Given the description of an element on the screen output the (x, y) to click on. 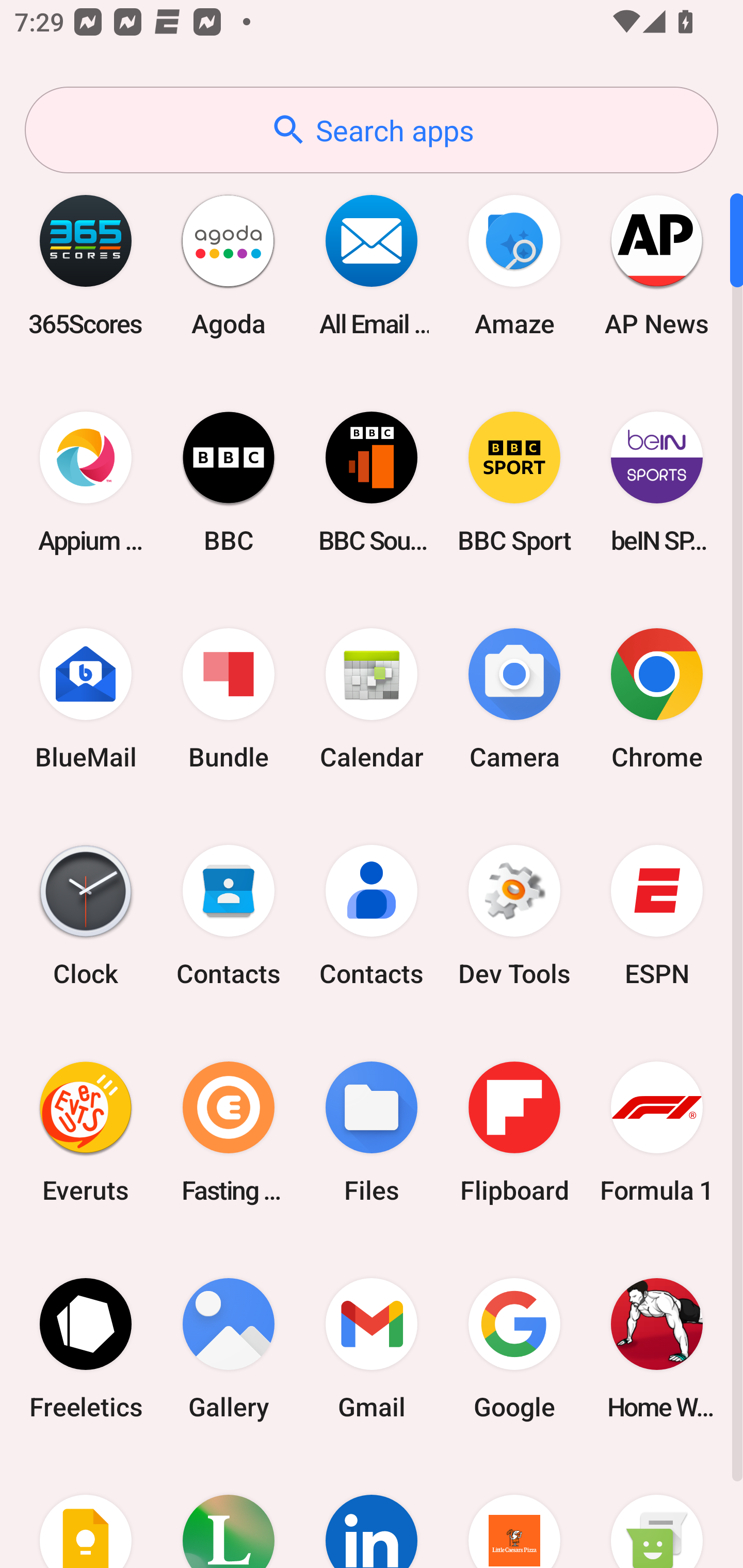
  Search apps (371, 130)
365Scores (85, 264)
Agoda (228, 264)
All Email Connect (371, 264)
Amaze (514, 264)
AP News (656, 264)
Appium Settings (85, 482)
BBC (228, 482)
BBC Sounds (371, 482)
BBC Sport (514, 482)
beIN SPORTS (656, 482)
BlueMail (85, 699)
Bundle (228, 699)
Calendar (371, 699)
Camera (514, 699)
Chrome (656, 699)
Clock (85, 915)
Contacts (228, 915)
Contacts (371, 915)
Dev Tools (514, 915)
ESPN (656, 915)
Everuts (85, 1131)
Fasting Coach (228, 1131)
Files (371, 1131)
Flipboard (514, 1131)
Formula 1 (656, 1131)
Freeletics (85, 1348)
Gallery (228, 1348)
Gmail (371, 1348)
Google (514, 1348)
Home Workout (656, 1348)
Keep Notes (85, 1512)
Lifesum (228, 1512)
LinkedIn (371, 1512)
Little Caesars Pizza (514, 1512)
Messaging (656, 1512)
